Given the description of an element on the screen output the (x, y) to click on. 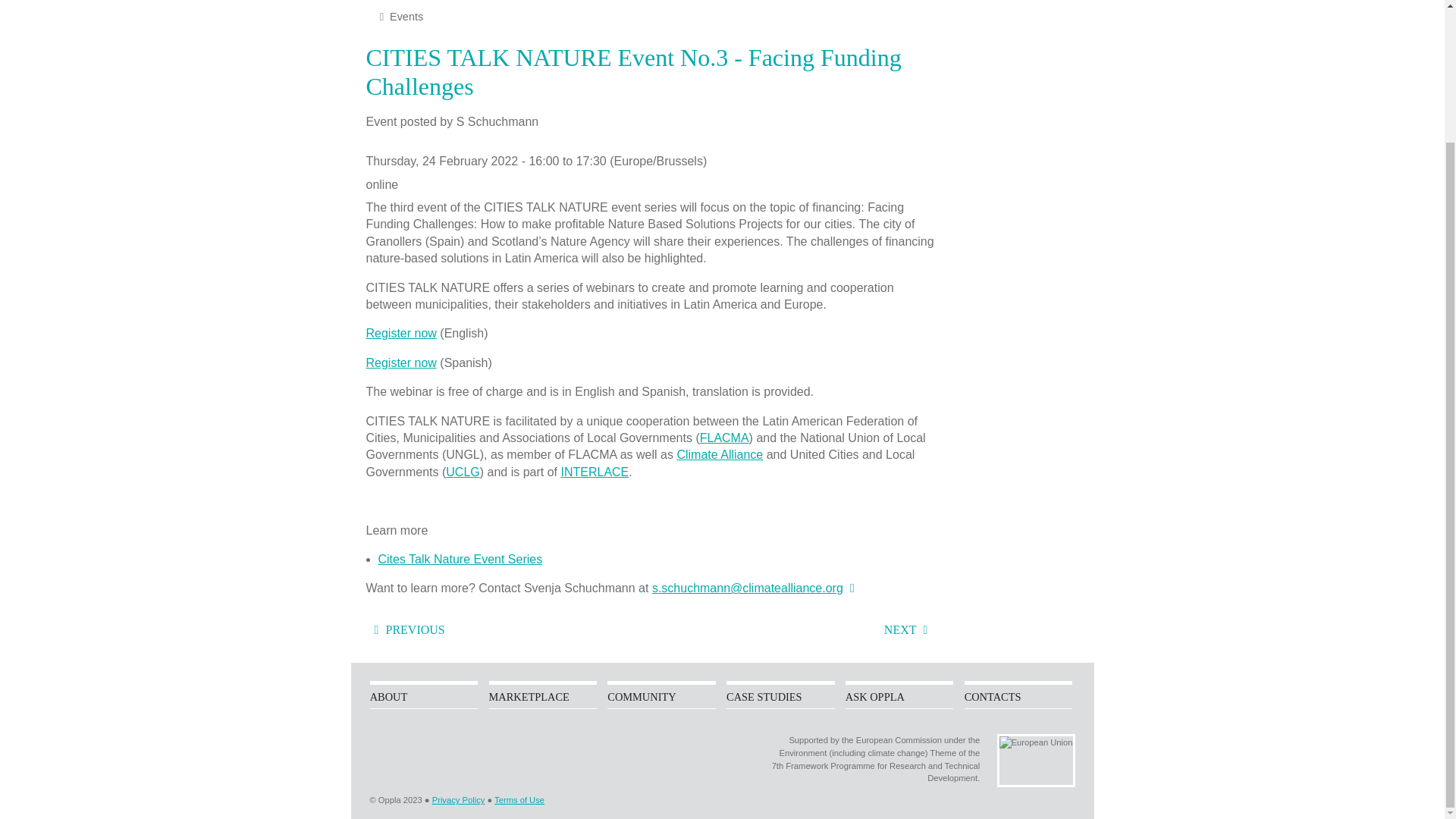
MARKETPLACE (541, 696)
CASE STUDIES (780, 696)
UCLG (462, 472)
ASK OPPLA (899, 696)
Next (909, 629)
Privacy Policy (458, 799)
FLACMA (724, 437)
COMMUNITY (661, 696)
Register now (400, 362)
NEXT (909, 629)
CONTACTS (1018, 696)
Register now (400, 332)
Cites Talk Nature Event Series (459, 558)
PREVIOUS (404, 629)
INTERLACE (594, 472)
